Given the description of an element on the screen output the (x, y) to click on. 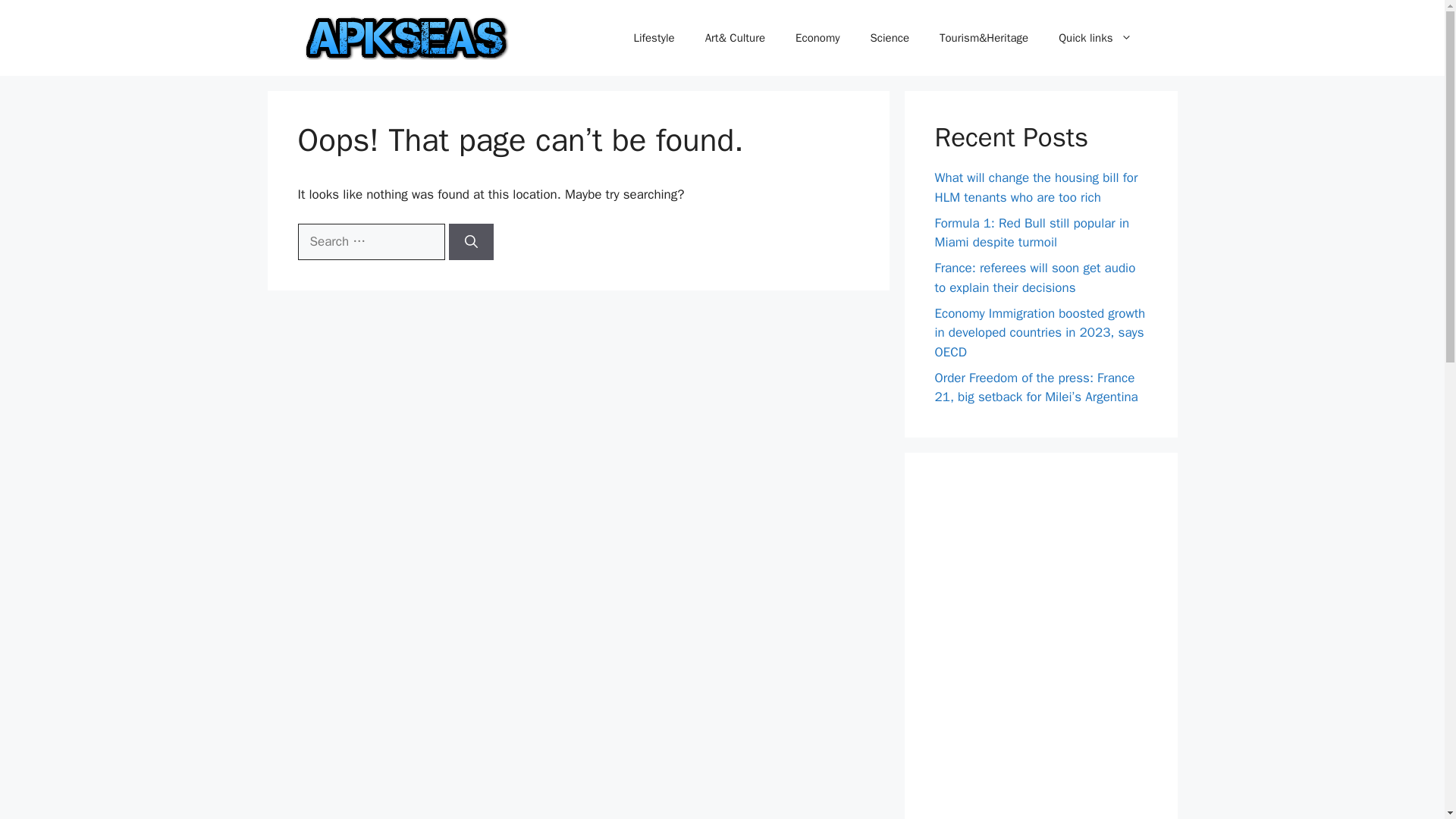
Lifestyle (652, 37)
Quick links (1095, 37)
Science (890, 37)
Search for: (370, 241)
Economy (817, 37)
Formula 1: Red Bull still popular in Miami despite turmoil (1031, 232)
